Given the description of an element on the screen output the (x, y) to click on. 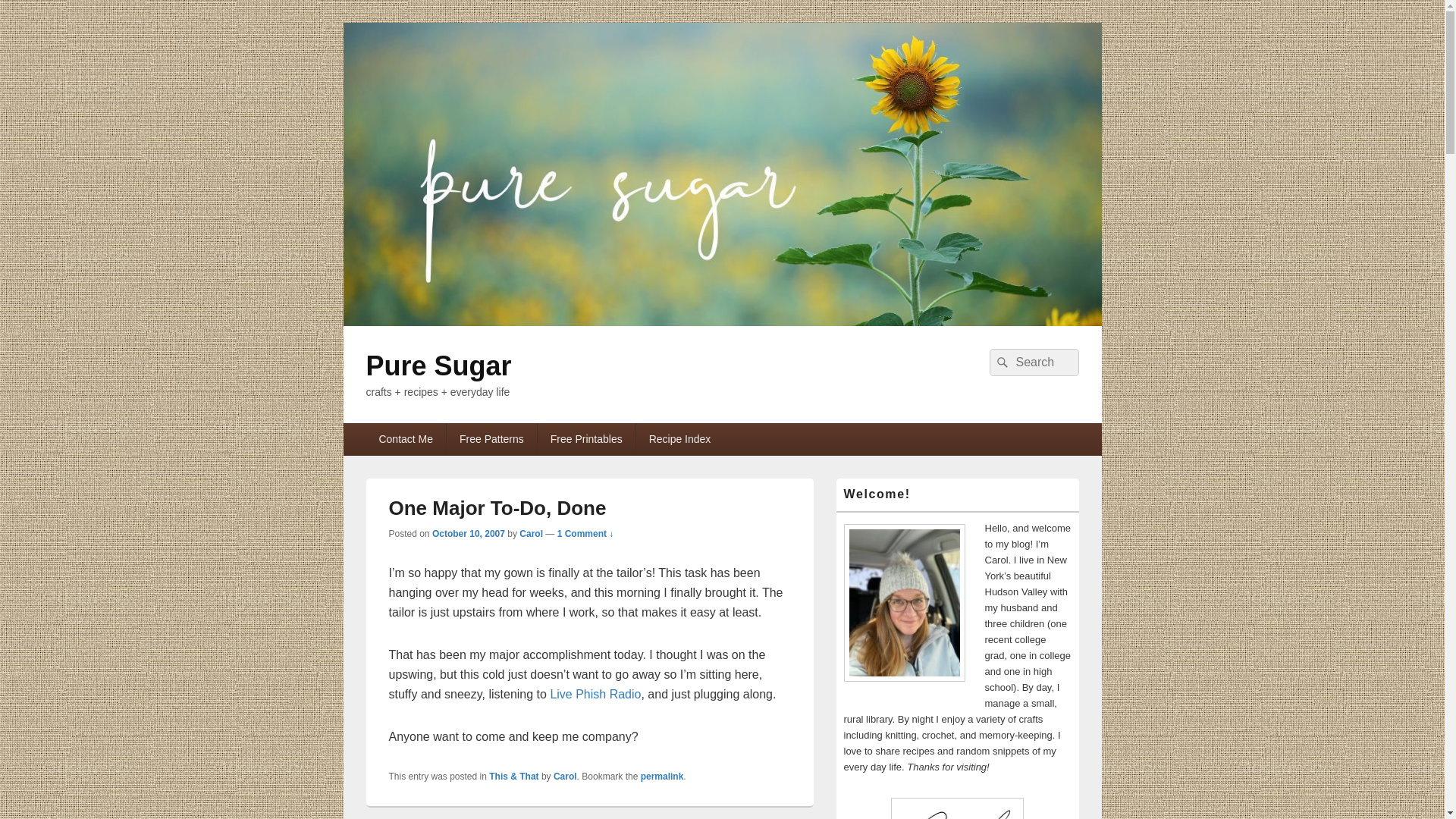
Permalink to One Major To-Do, Done (662, 776)
permalink (662, 776)
11:59 am (468, 533)
Pure Sugar (438, 365)
Recipe Index (679, 439)
View all posts by Carol (531, 533)
Carol (531, 533)
Pure Sugar (721, 321)
Carol (564, 776)
Contact Me (405, 439)
